Given the description of an element on the screen output the (x, y) to click on. 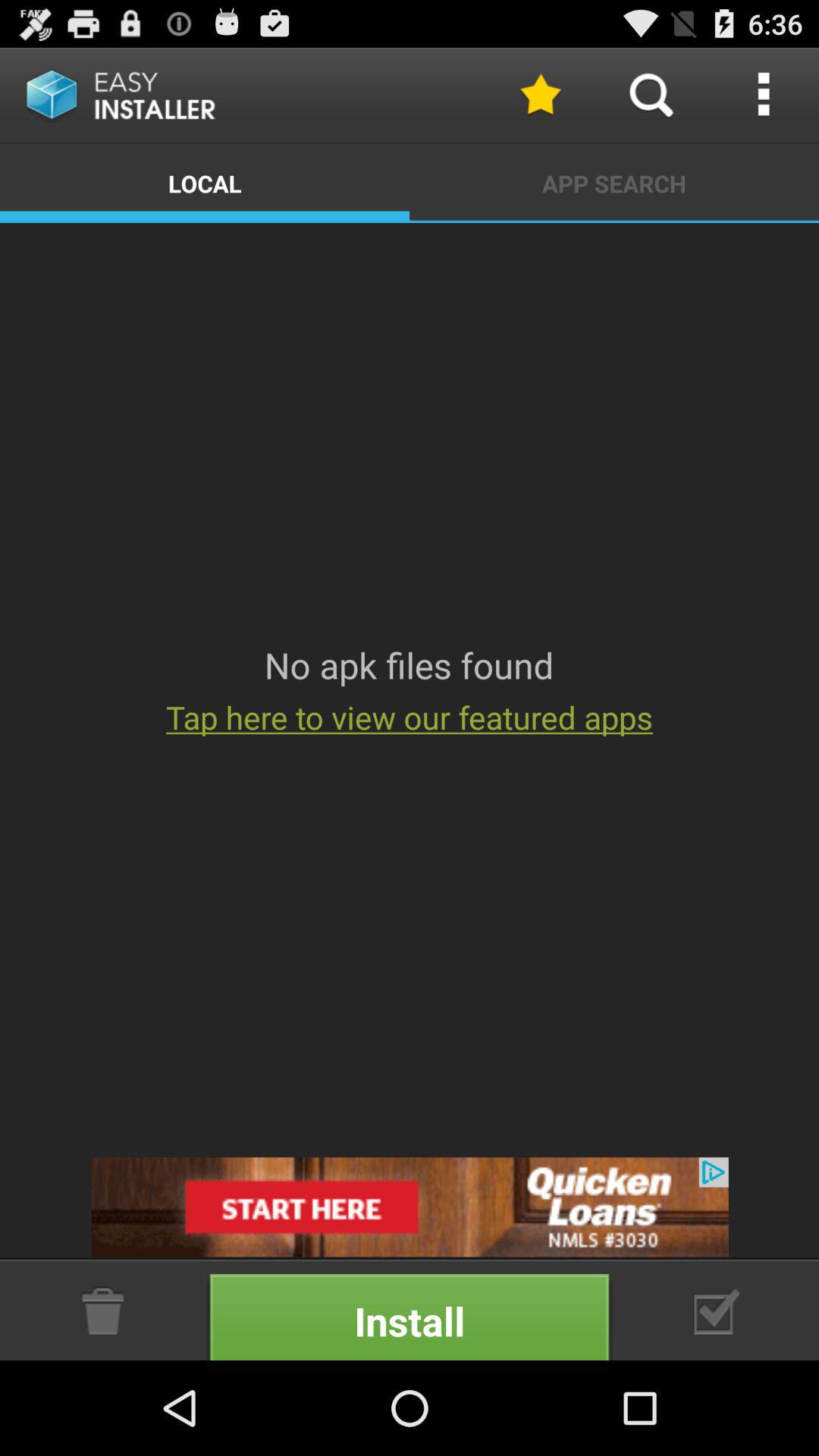
tick to confirm (716, 1310)
